Given the description of an element on the screen output the (x, y) to click on. 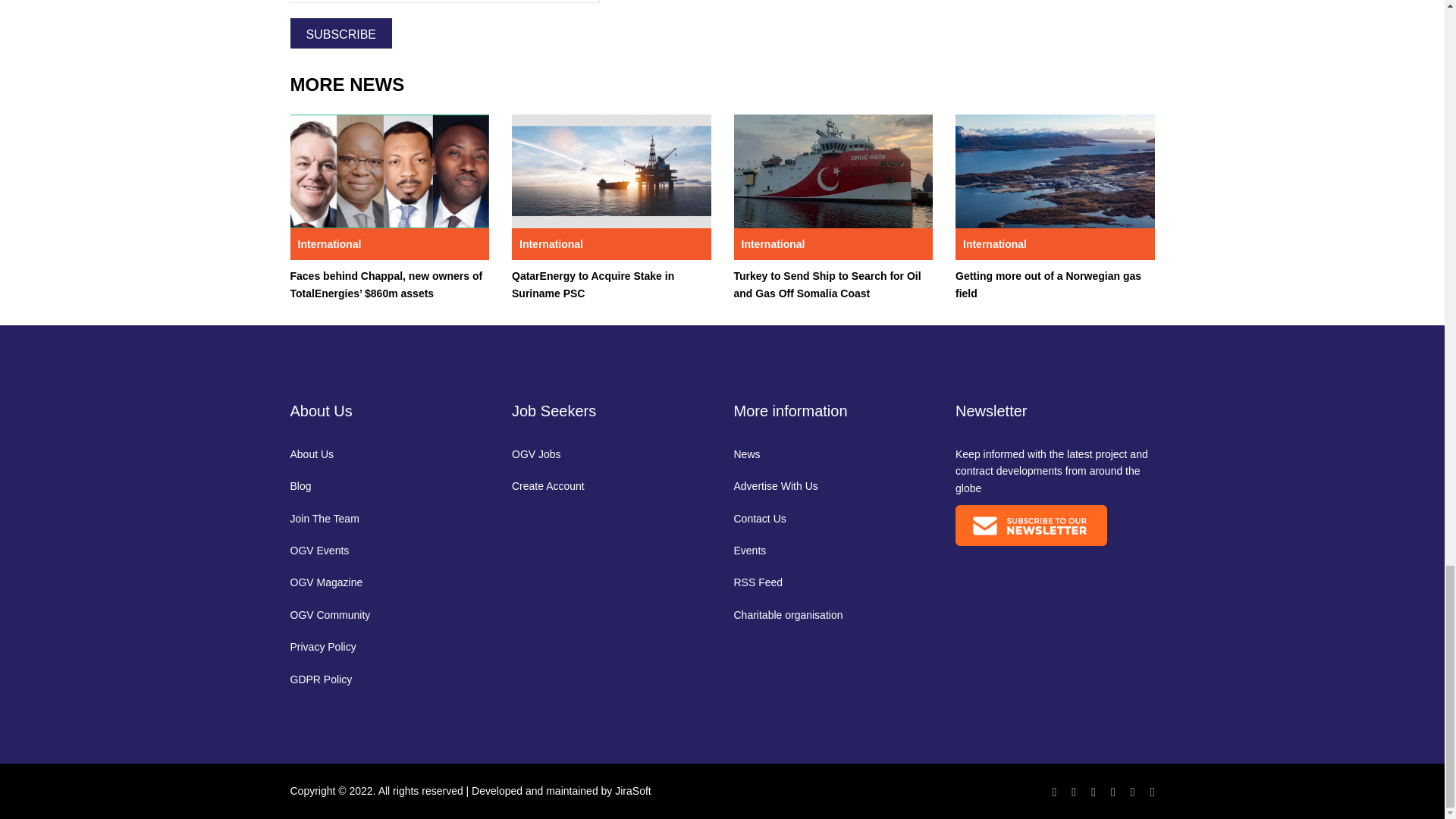
SUBSCRIBE (340, 33)
